Given the description of an element on the screen output the (x, y) to click on. 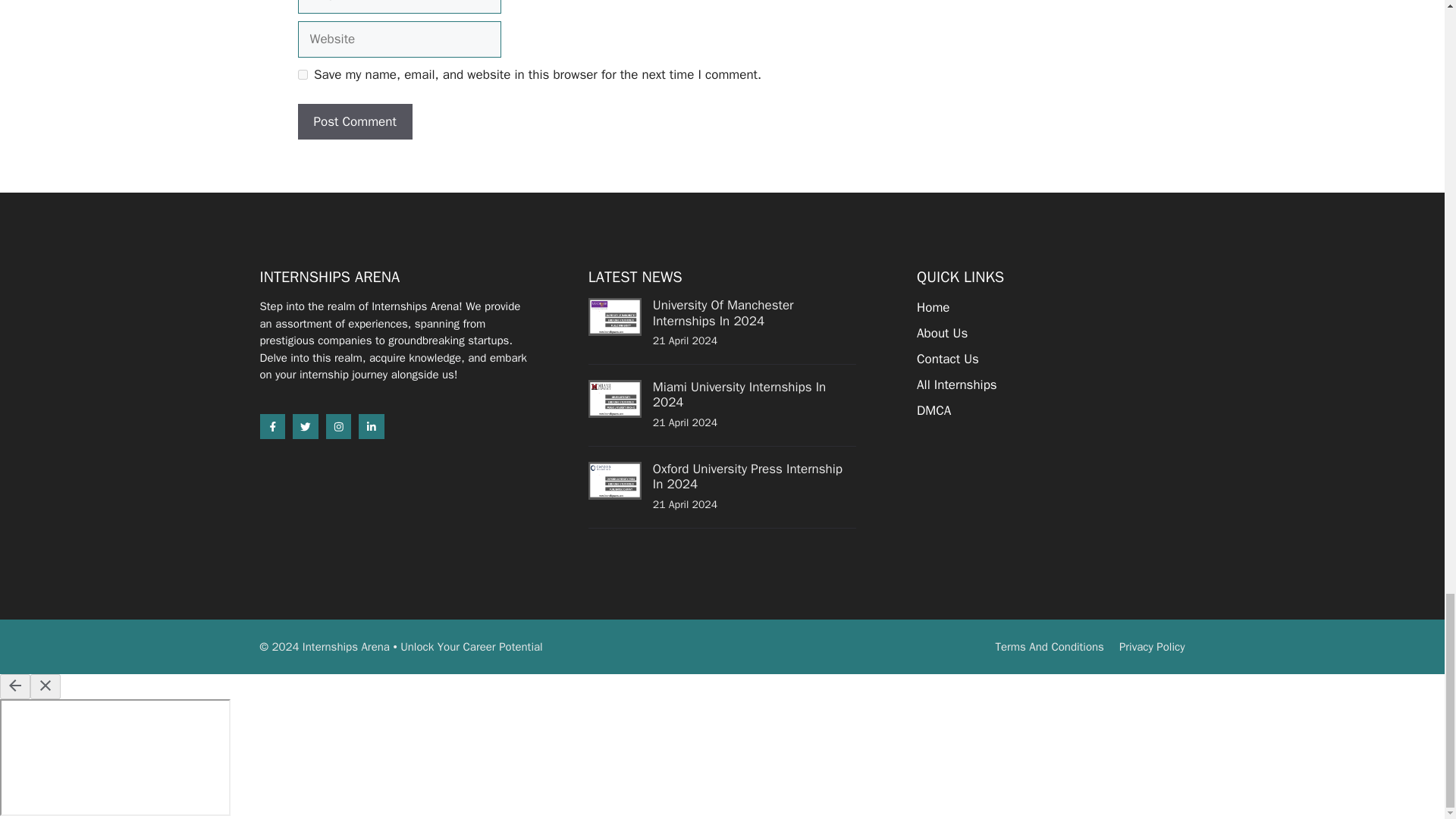
yes (302, 74)
Post Comment (354, 122)
Post Comment (354, 122)
